Given the description of an element on the screen output the (x, y) to click on. 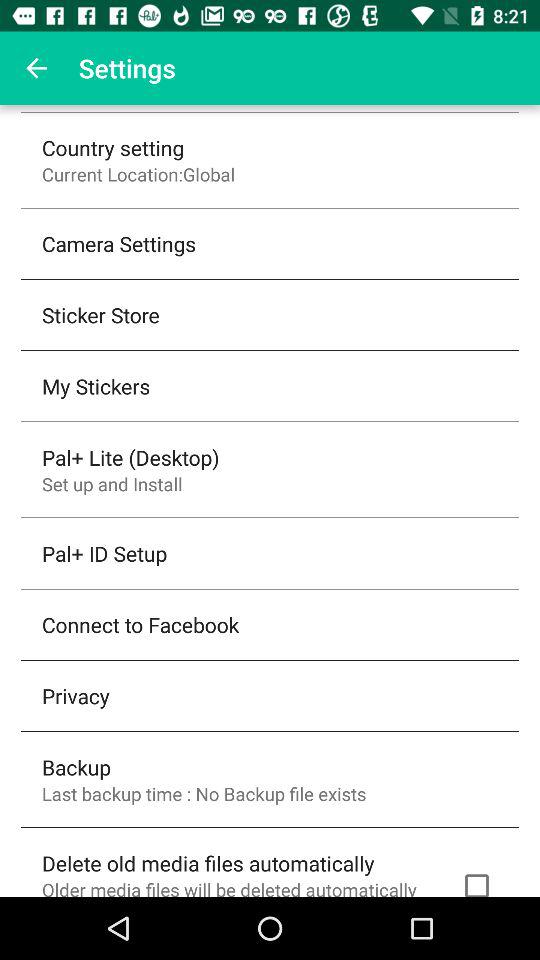
launch privacy (75, 695)
